Given the description of an element on the screen output the (x, y) to click on. 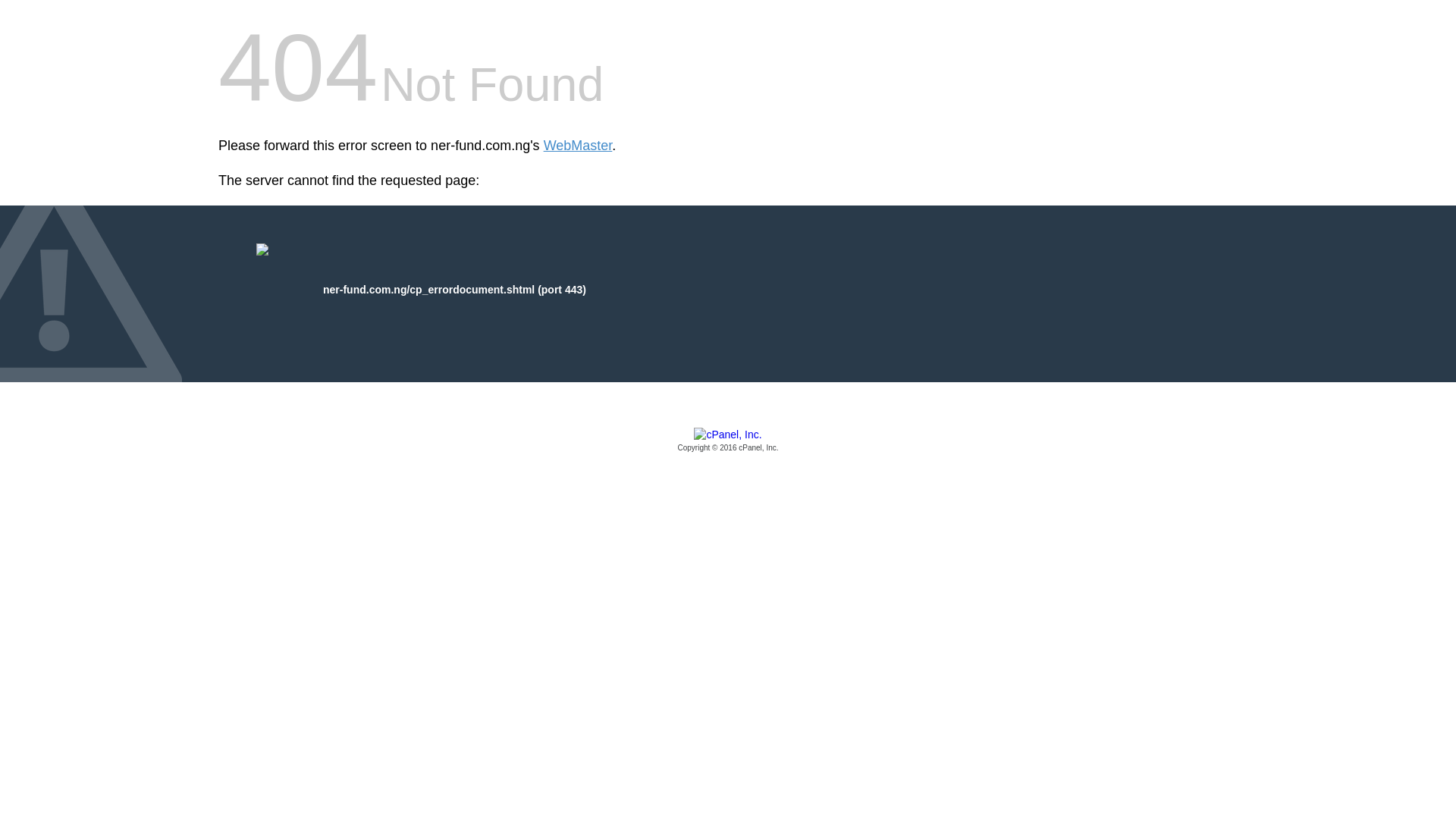
cPanel, Inc. (727, 440)
WebMaster (577, 145)
